Given the description of an element on the screen output the (x, y) to click on. 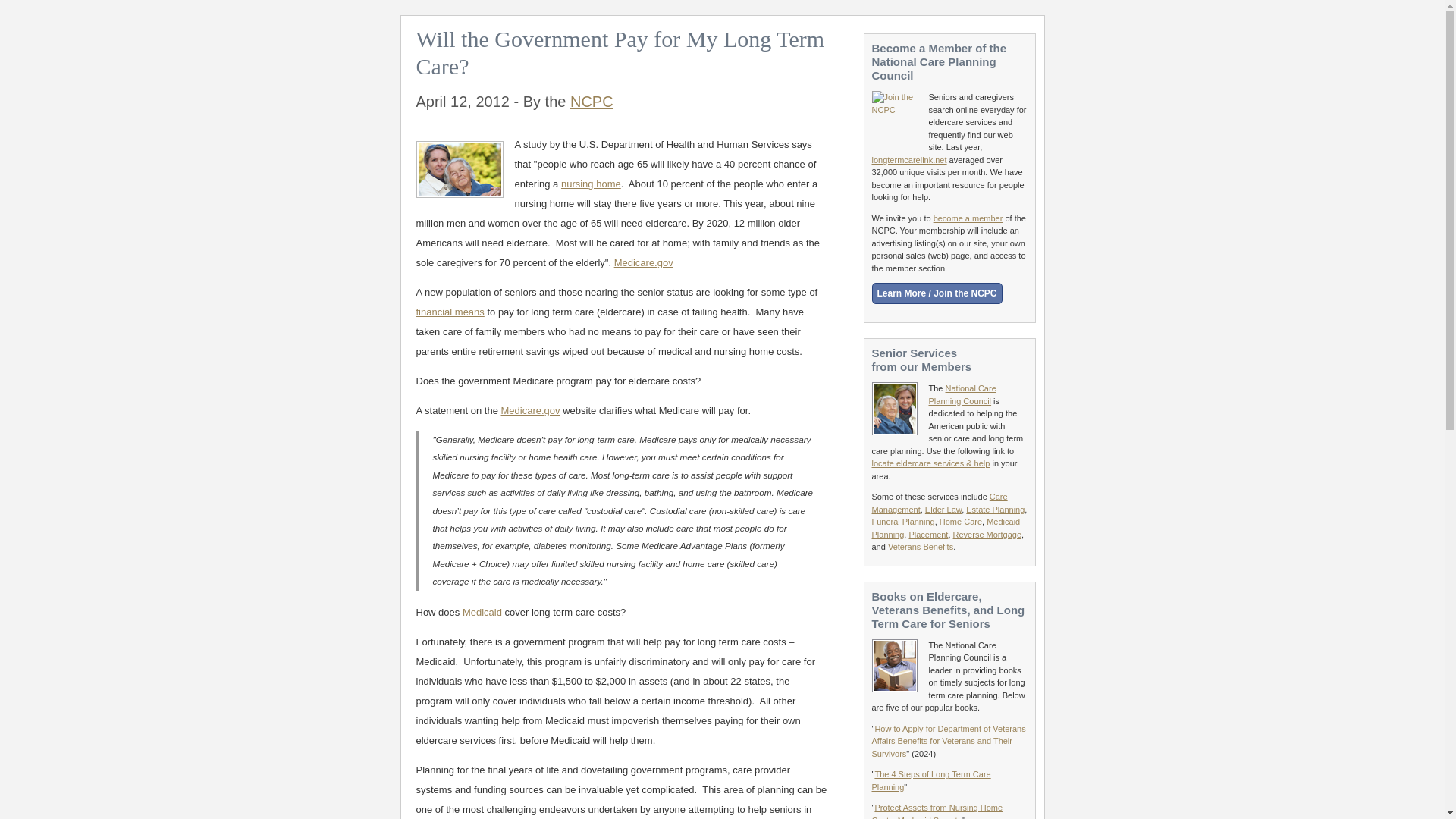
NCPC (591, 101)
Medicaid (482, 612)
Medicare.gov (530, 410)
nursing home (590, 183)
financial means (448, 311)
